Given the description of an element on the screen output the (x, y) to click on. 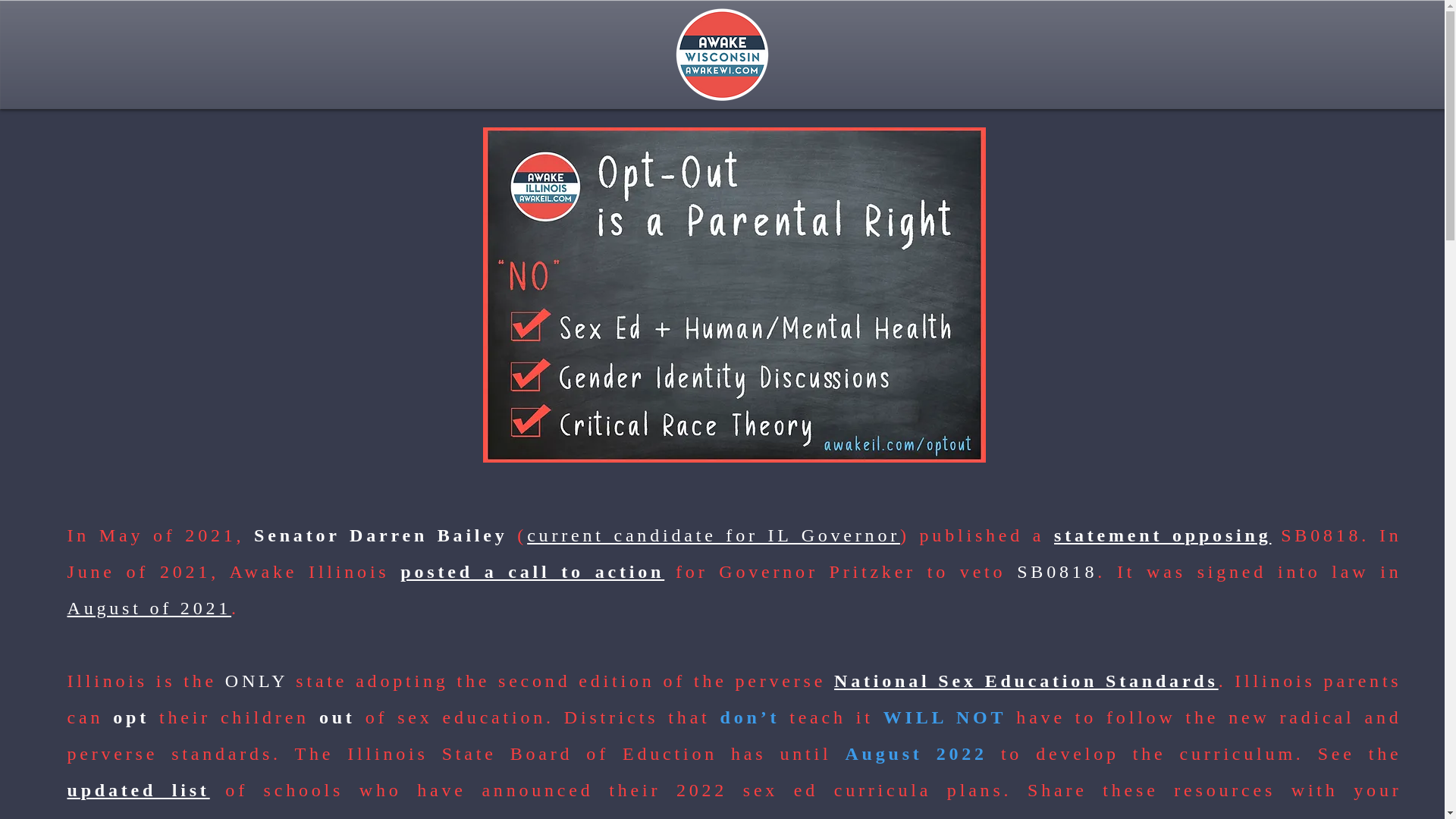
posted a call to action (531, 571)
August of 2021 (148, 608)
statement opposing (1162, 534)
updated list (137, 789)
OPT OUT FORM TODAY (906, 817)
current candidate for IL Governor (713, 535)
National Sex Education Standards (1026, 680)
